Given the description of an element on the screen output the (x, y) to click on. 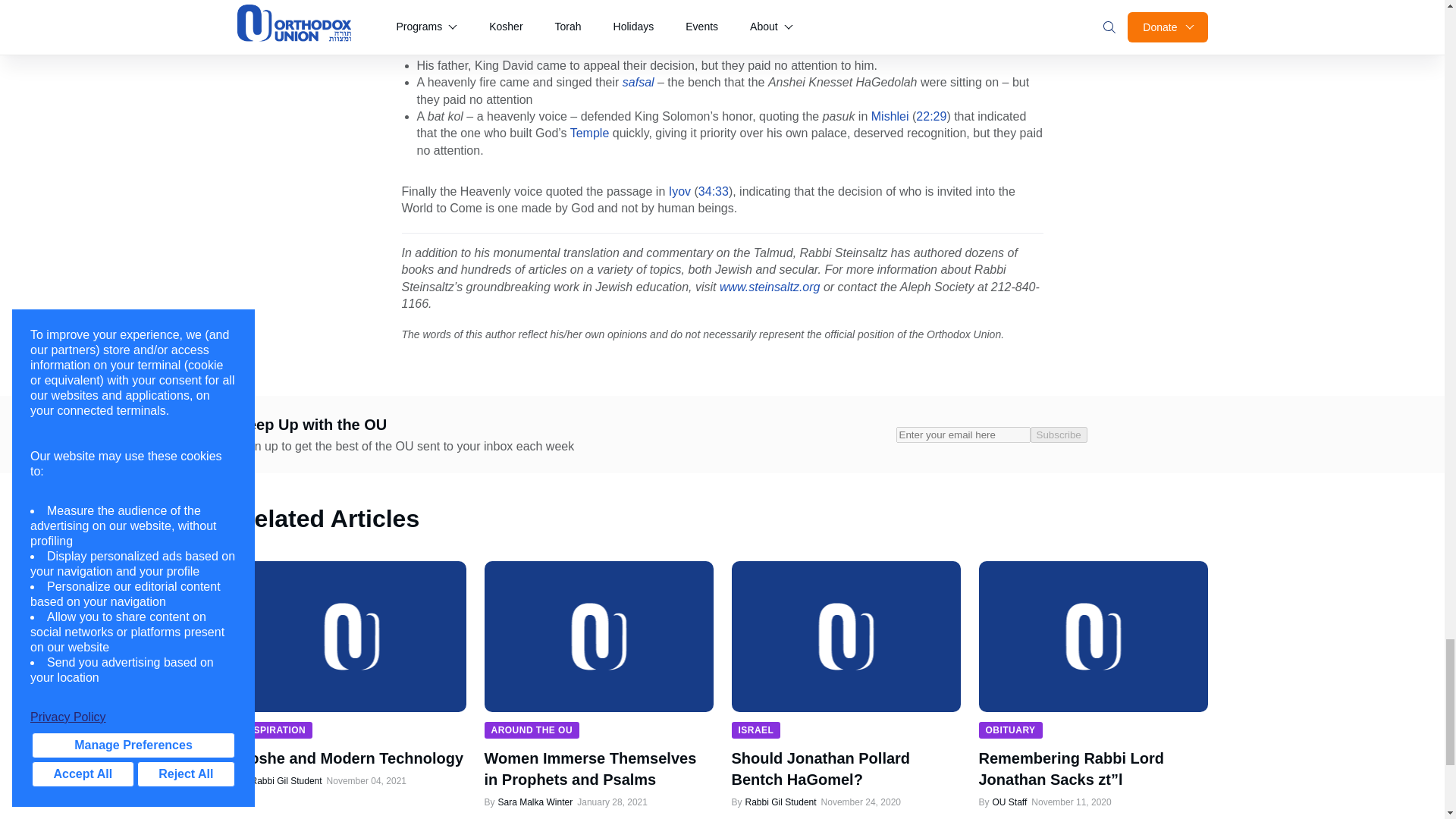
Posts by Rabbi Gil Student (780, 801)
Posts by OU Staff (1009, 801)
Posts by Sara Malka Winter (534, 801)
Posts by Rabbi Gil Student (284, 780)
